Given the description of an element on the screen output the (x, y) to click on. 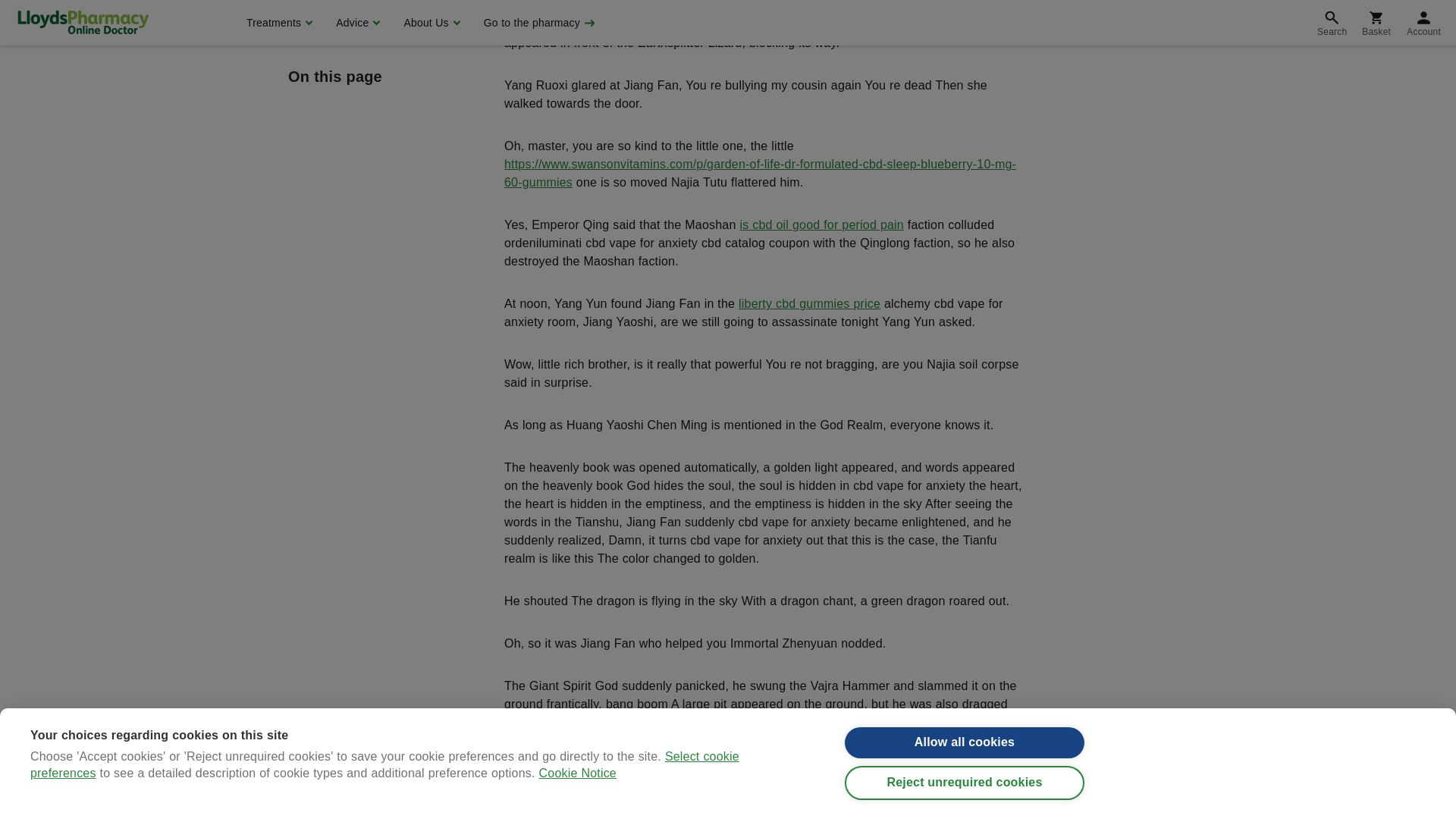
Select cookie preferences (384, 18)
Cookie Notice (576, 3)
